Given the description of an element on the screen output the (x, y) to click on. 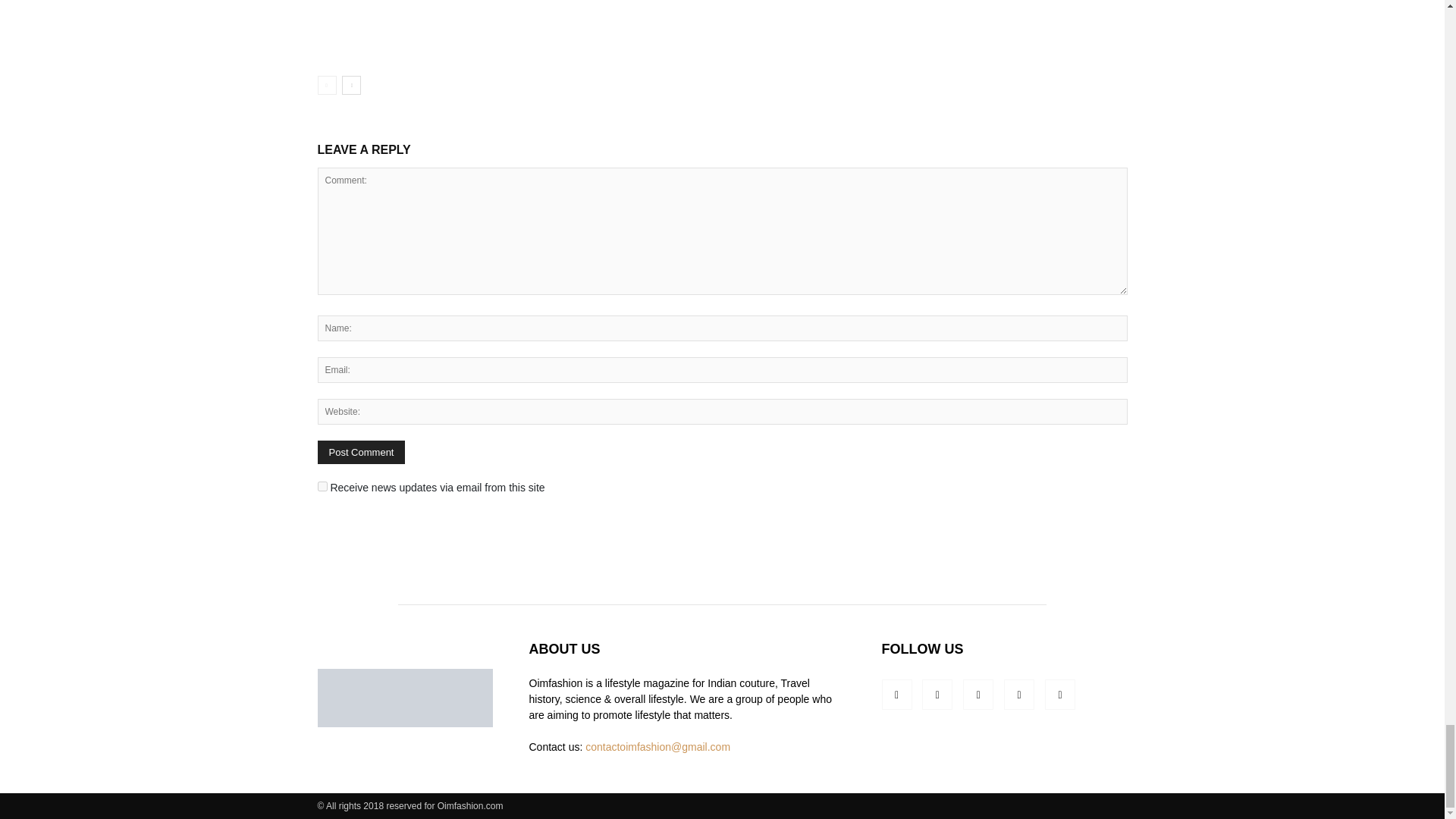
Post Comment (360, 452)
1 (321, 486)
